Given the description of an element on the screen output the (x, y) to click on. 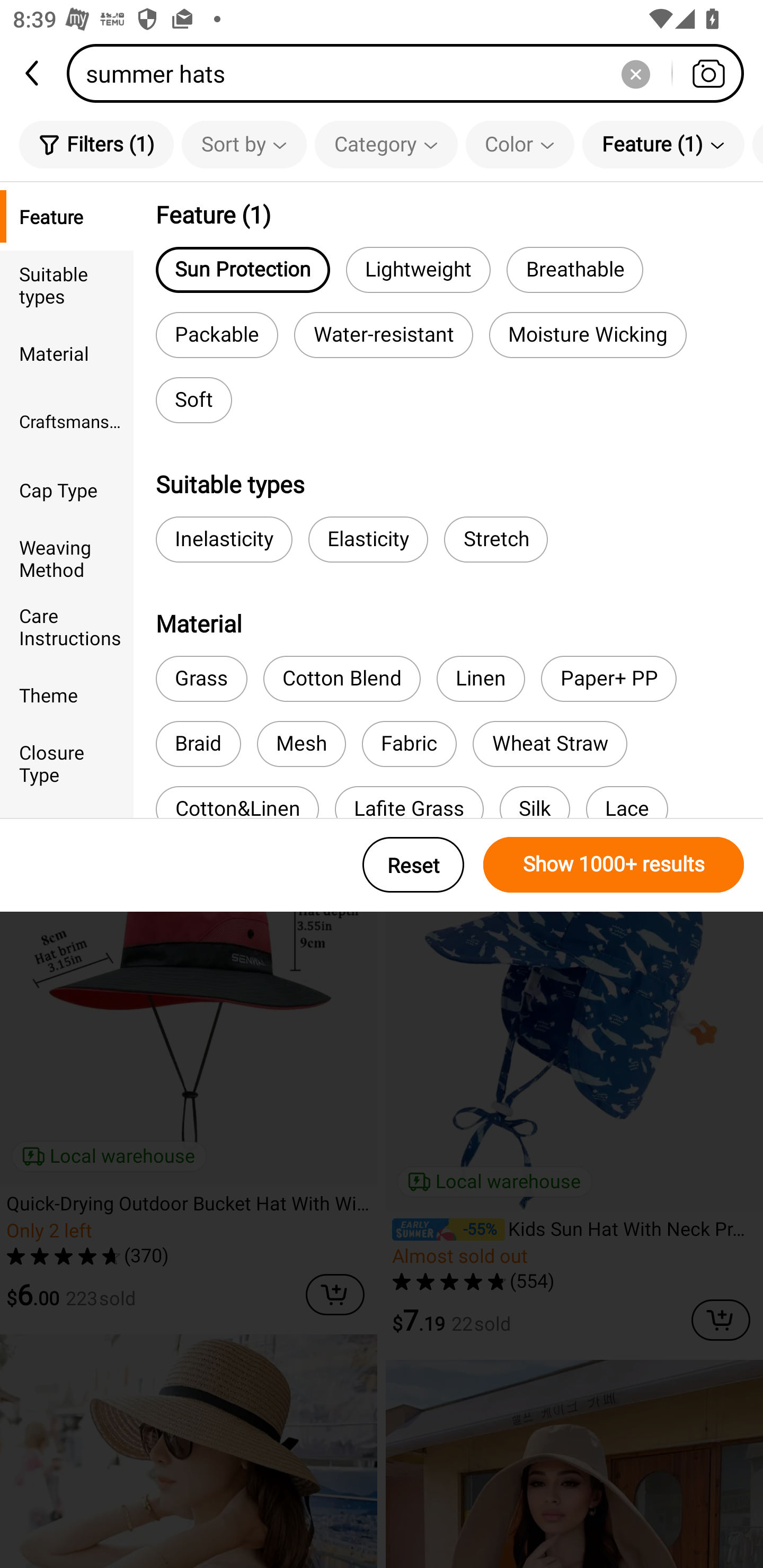
back (33, 72)
summer hats (411, 73)
Delete search history (635, 73)
Search by photo (708, 73)
Filters (1) (96, 143)
Sort by (243, 143)
Category (385, 143)
Color (519, 143)
Feature (1) (663, 143)
Feature (66, 215)
Sun Protection (242, 269)
Lightweight (417, 269)
Breathable (574, 269)
Suitable types (66, 284)
Packable (216, 334)
Water-resistant (383, 334)
Moisture Wicking (587, 334)
Material (66, 352)
Soft (193, 400)
Craftsmanship (66, 421)
Cap Type (66, 489)
Inelasticity (223, 538)
Elasticity (368, 538)
Stretch (495, 538)
Weaving Method (66, 557)
Care Instructions (66, 626)
Grass (201, 678)
Cotton Blend (341, 678)
Linen (480, 678)
Paper+ PP (608, 678)
Theme (66, 694)
Braid (198, 743)
Mesh (301, 743)
Fabric (409, 743)
Wheat Straw (549, 743)
Closure Type (66, 762)
Cotton&Linen (236, 801)
Lafite Grass (408, 801)
Silk (534, 801)
Lace (626, 801)
Reset (412, 864)
Show 1000+ results (612, 864)
